Given the description of an element on the screen output the (x, y) to click on. 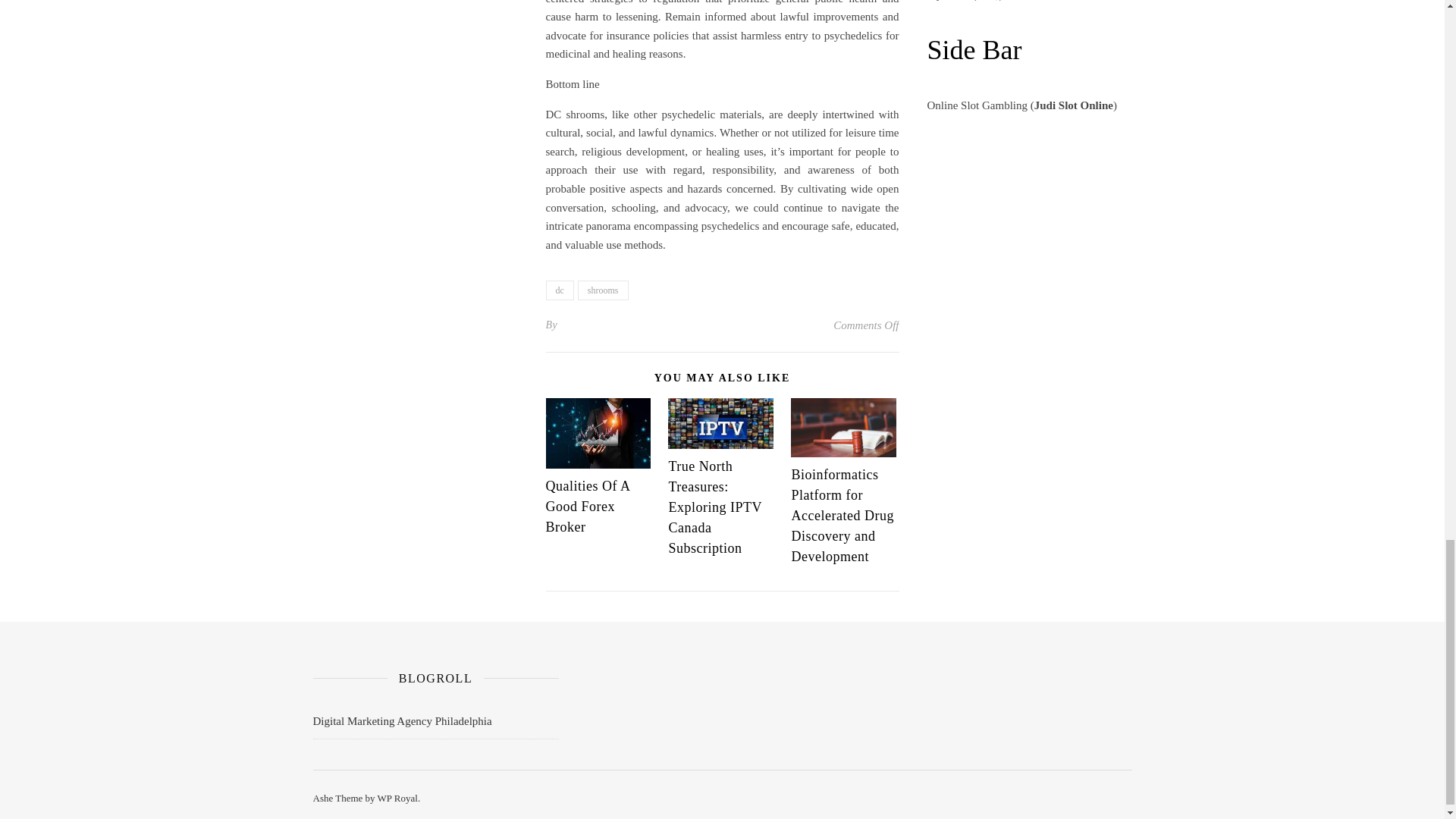
Qualities Of A Good Forex Broker (588, 506)
shrooms (603, 290)
dc (559, 290)
True North Treasures: Exploring IPTV Canada Subscription (714, 507)
